Given the description of an element on the screen output the (x, y) to click on. 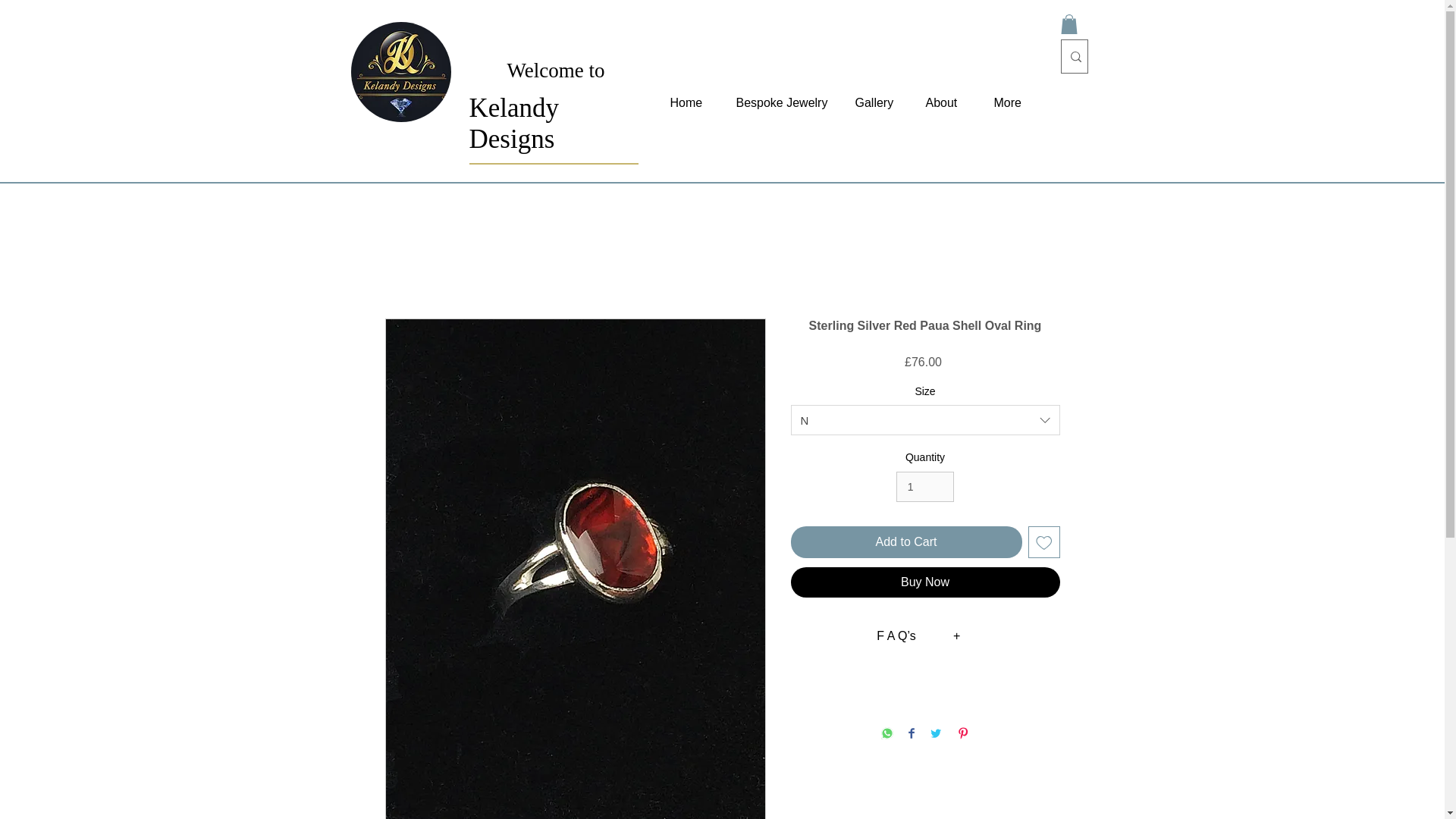
Kelandy Designs (513, 123)
Use right and left arrows to navigate between tabs (957, 636)
Gallery (870, 102)
Bespoke Jewelry (776, 102)
About (941, 102)
Use right and left arrows to navigate between tabs (896, 636)
1 (924, 486)
Home (683, 102)
